Given the description of an element on the screen output the (x, y) to click on. 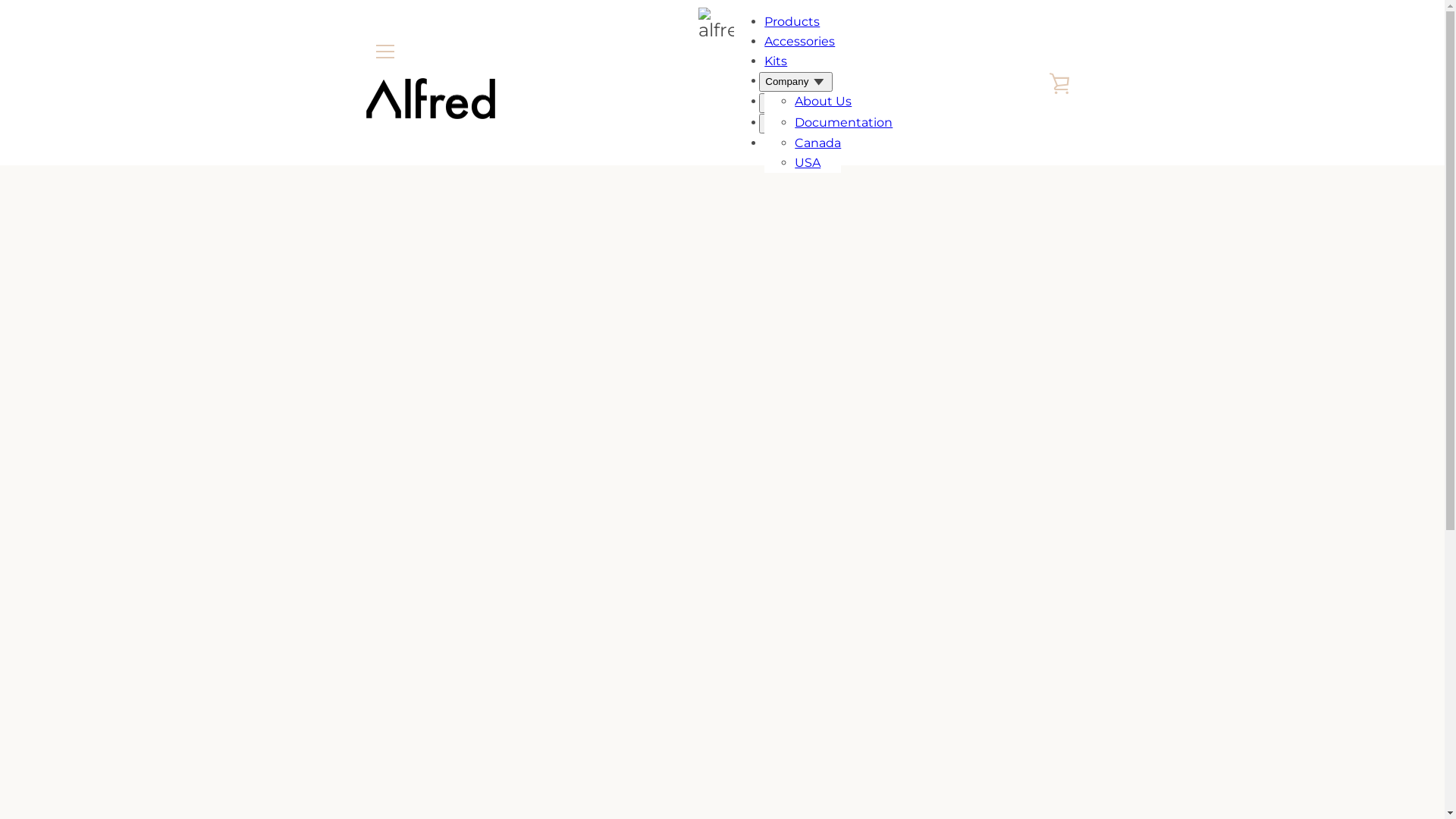
Canada Element type: text (817, 142)
Products Element type: text (791, 21)
Company
Company menu Element type: text (795, 81)
Accessories Element type: text (799, 41)
Country
Country menu Element type: text (791, 123)
VIEW CART Element type: text (1059, 82)
Support
Support menu Element type: text (791, 102)
USA Element type: text (807, 162)
Documentation Element type: text (843, 122)
News Element type: text (811, 120)
FAQ Element type: text (806, 141)
Kits Element type: text (775, 60)
EXPAND NAVIGATION Element type: text (384, 51)
About Us Element type: text (822, 101)
Skip to content Element type: text (0, 0)
